Given the description of an element on the screen output the (x, y) to click on. 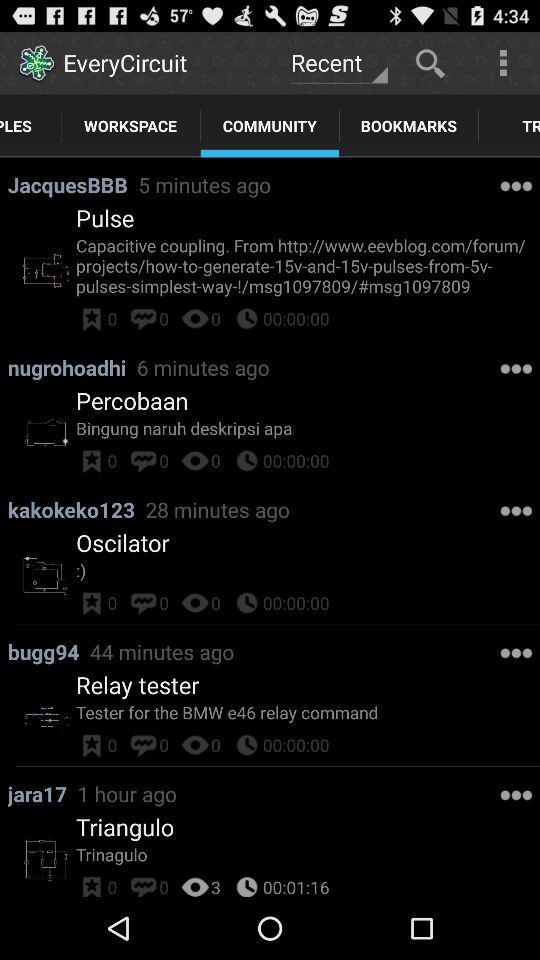
turn on item below oscilator app (308, 569)
